Given the description of an element on the screen output the (x, y) to click on. 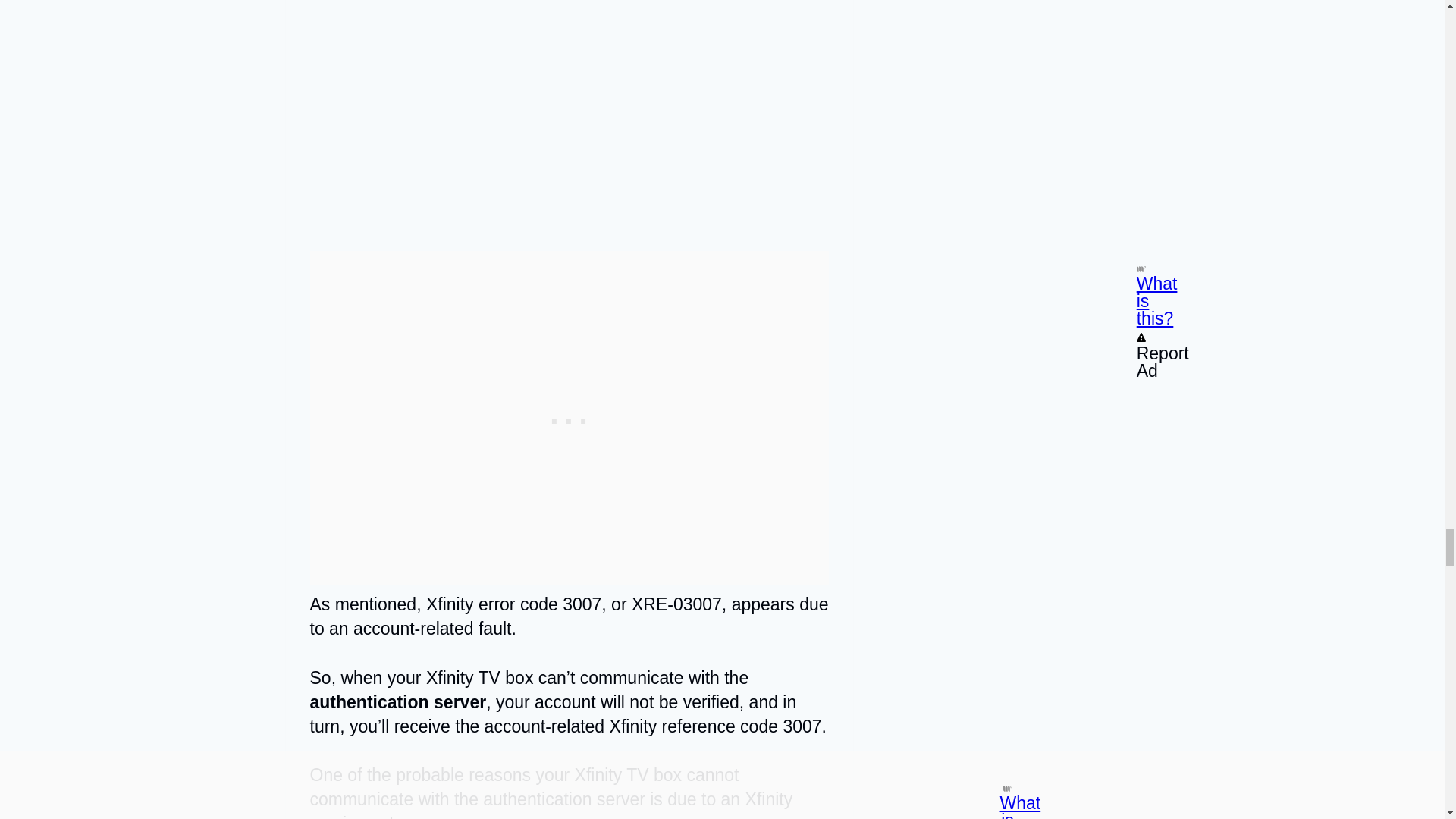
Xfinity Reference Code 3007 - Quick Fix Guide 7 (568, 113)
